Given the description of an element on the screen output the (x, y) to click on. 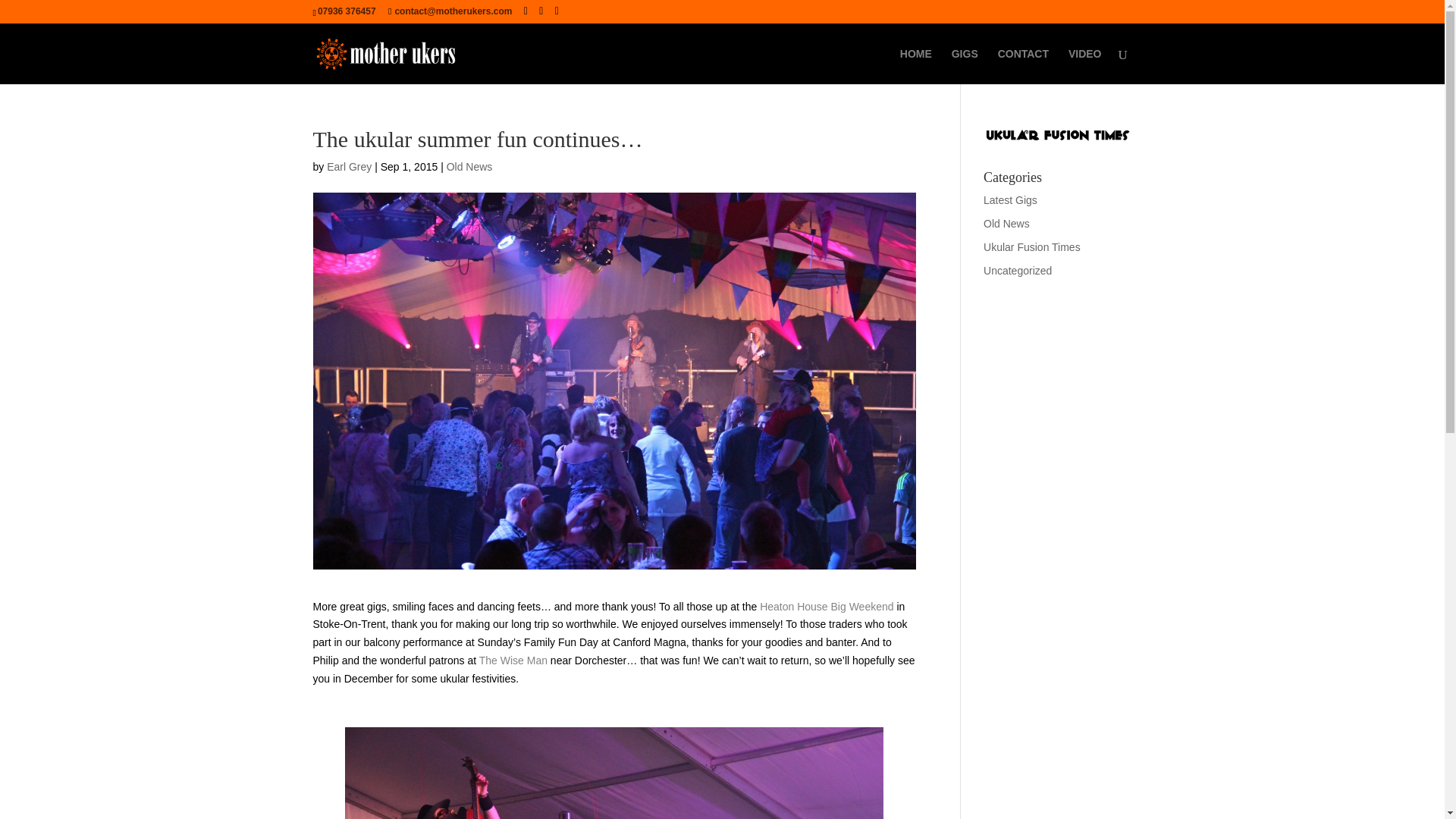
CONTACT (1022, 66)
VIDEO (1085, 66)
Uncategorized (1017, 270)
Heaton House Big Weekend (826, 606)
The Wise Man (513, 660)
Posts by Earl Grey (348, 166)
Latest Gigs (1010, 200)
HOME (915, 66)
Ukular Fusion Times (1032, 246)
Earl Grey (348, 166)
Old News (469, 166)
GIGS (965, 66)
Old News (1006, 223)
